Given the description of an element on the screen output the (x, y) to click on. 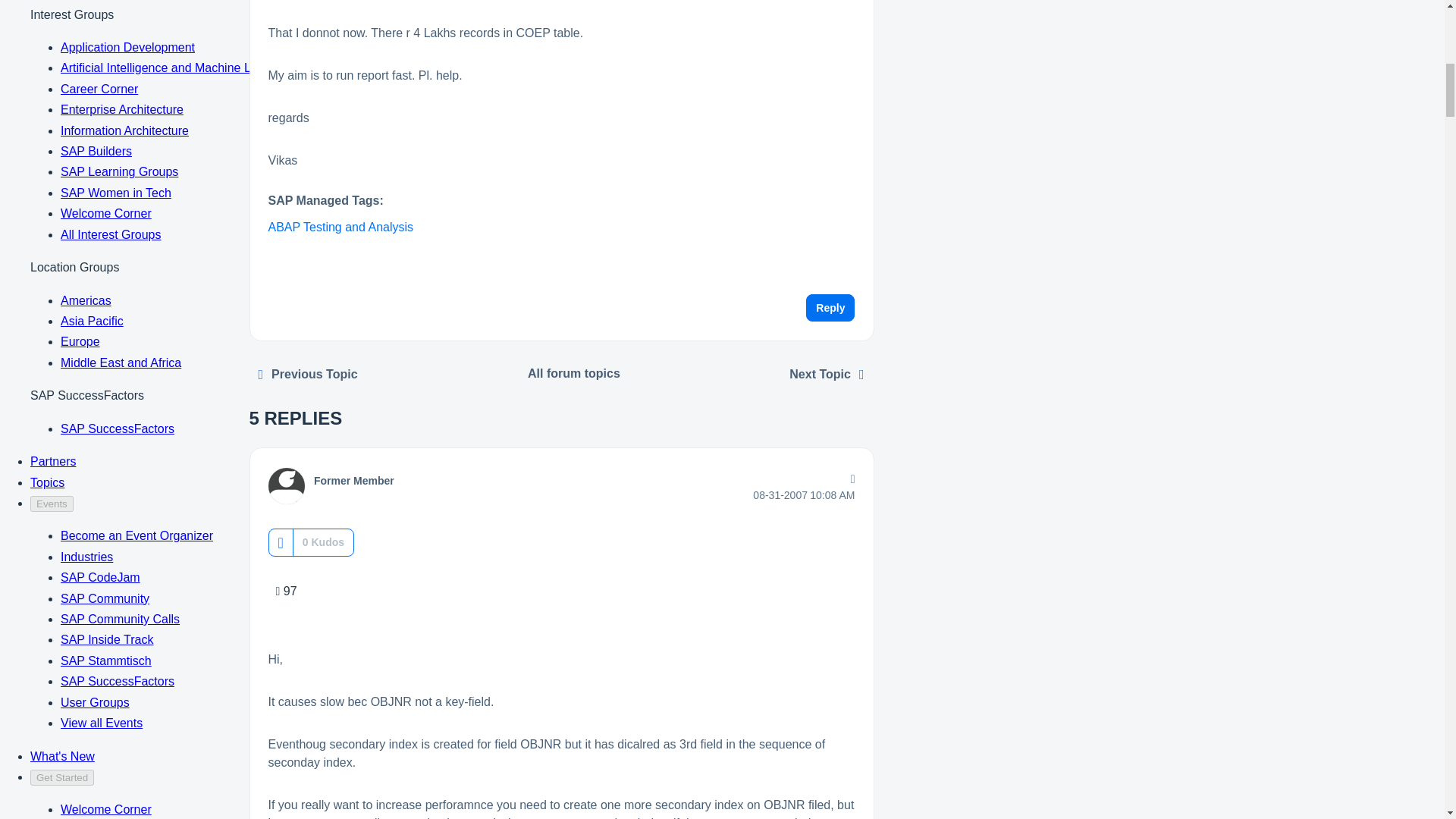
ABAP Testing and Analysis (340, 226)
Previous Topic (308, 374)
Application Development Discussions (574, 373)
Next Topic (825, 374)
sort text internale table (308, 374)
All forum topics (574, 373)
Reply (830, 307)
